Given the description of an element on the screen output the (x, y) to click on. 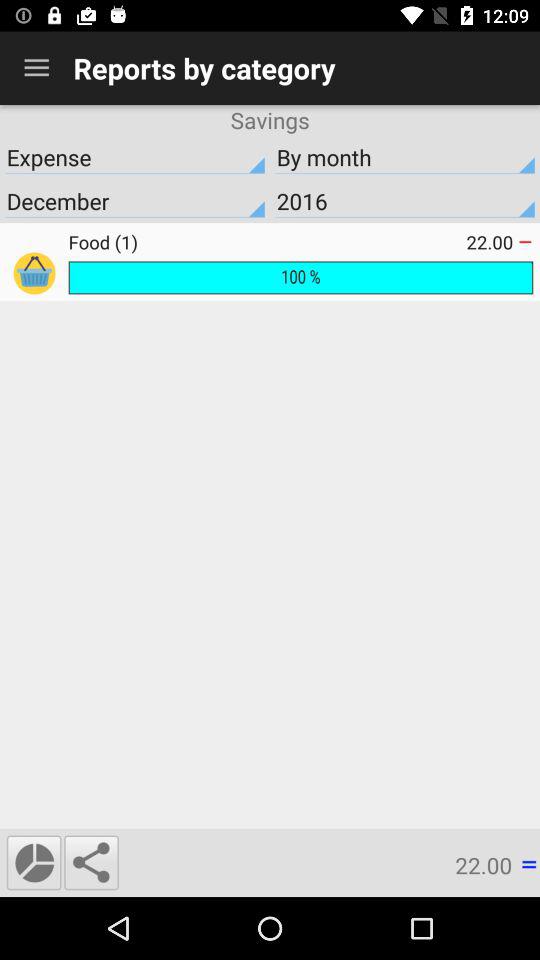
display graphic view (33, 862)
